Given the description of an element on the screen output the (x, y) to click on. 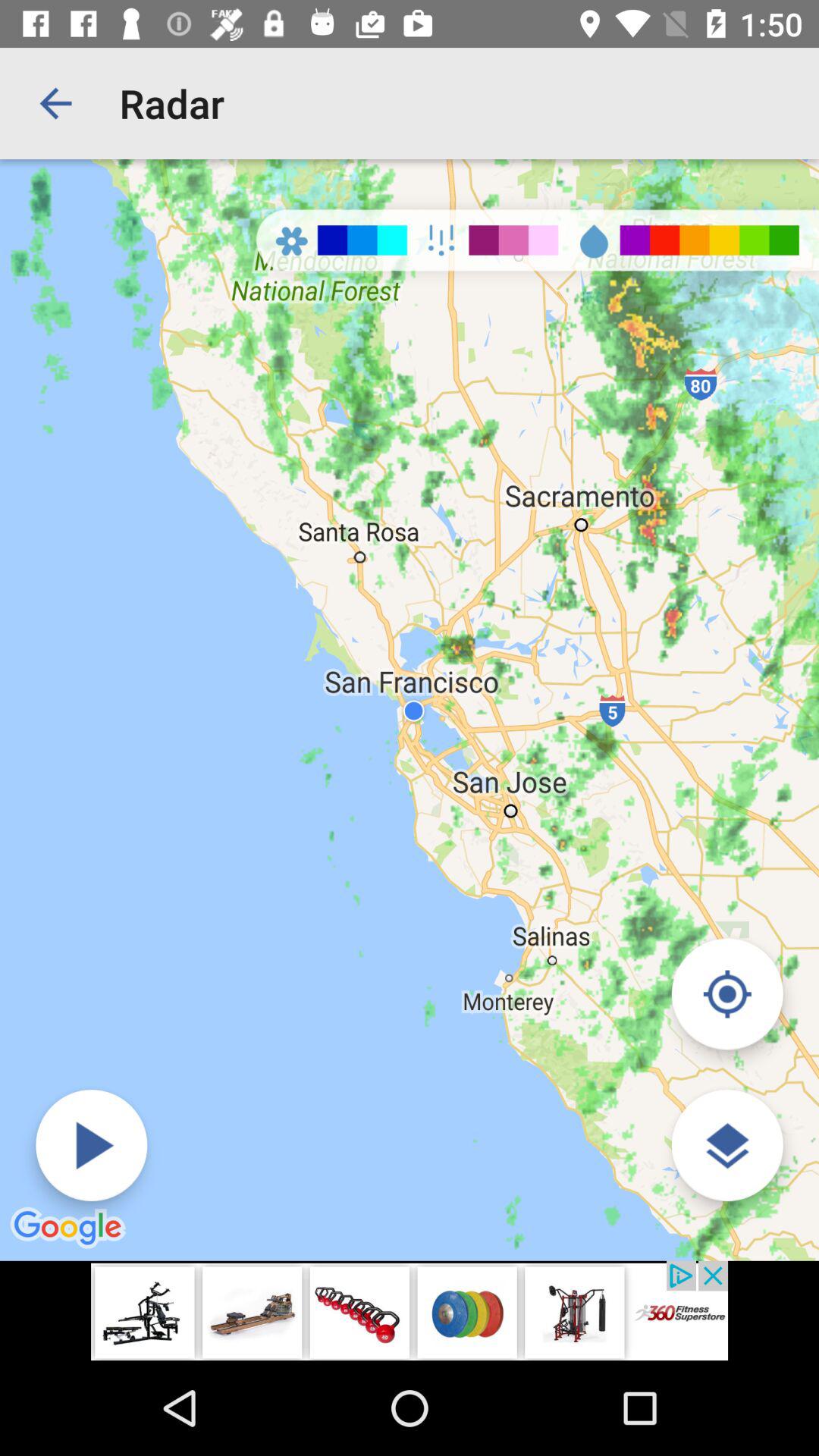
advertisement (409, 1310)
